Given the description of an element on the screen output the (x, y) to click on. 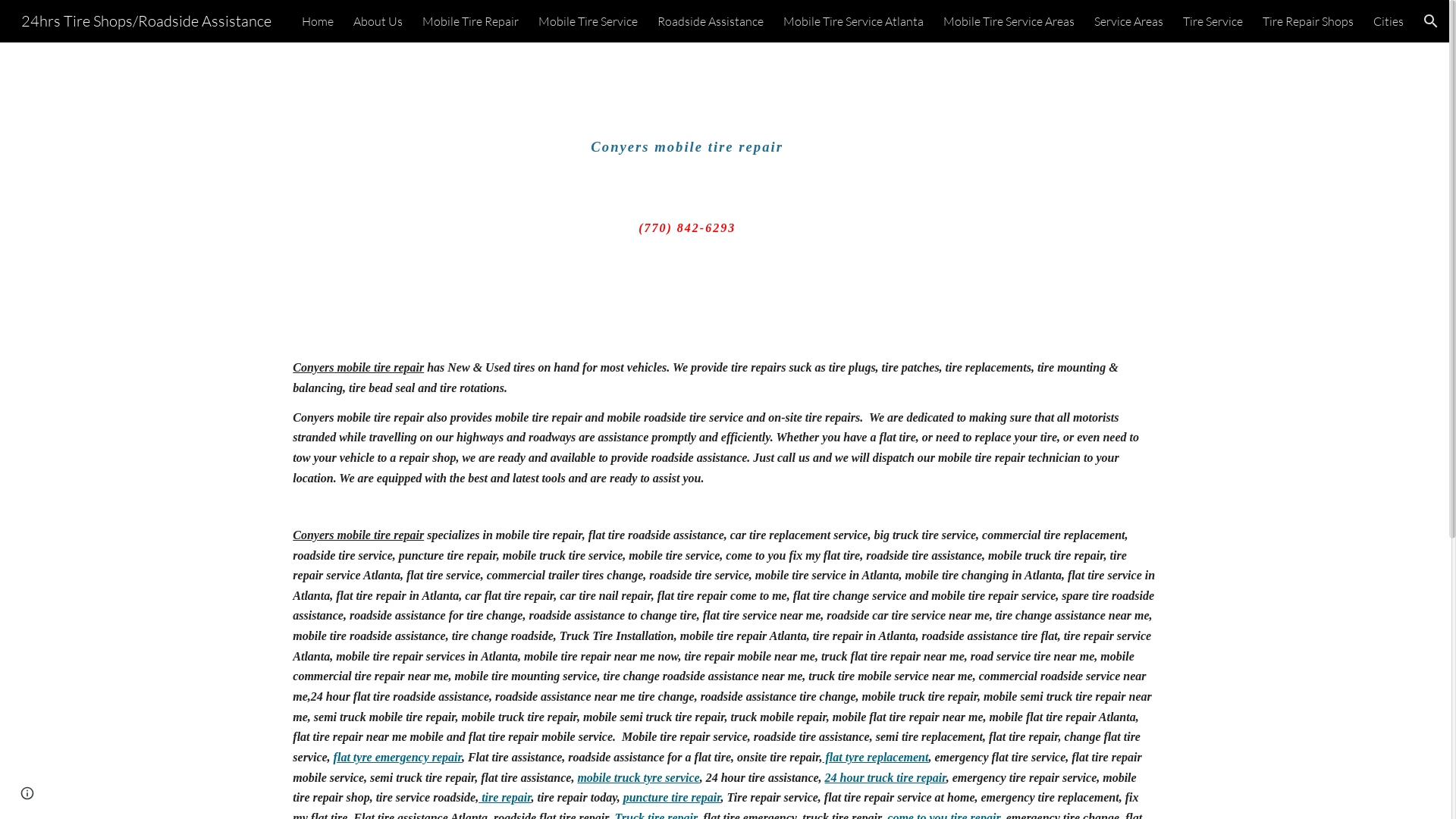
Mobile Tire Service Atlanta Element type: text (853, 20)
24 hour truck tire repair Element type: text (885, 777)
puncture tire repair Element type: text (672, 796)
 flat tyre replacement Element type: text (875, 756)
Mobile Tire Service Element type: text (587, 20)
Tire Service Element type: text (1212, 20)
Service Areas Element type: text (1128, 20)
Mobile Tire Repair Element type: text (470, 20)
 tire repair Element type: text (504, 796)
Mobile Tire Service Areas Element type: text (1008, 20)
About Us Element type: text (377, 20)
flat tyre emergency repair Element type: text (397, 756)
24hrs Tire Shops/Roadside Assistance Element type: text (146, 18)
Cities Element type: text (1388, 20)
Tire Repair Shops Element type: text (1307, 20)
Roadside Assistance Element type: text (710, 20)
Home Element type: text (317, 20)
mobile truck tyre service Element type: text (638, 777)
